Given the description of an element on the screen output the (x, y) to click on. 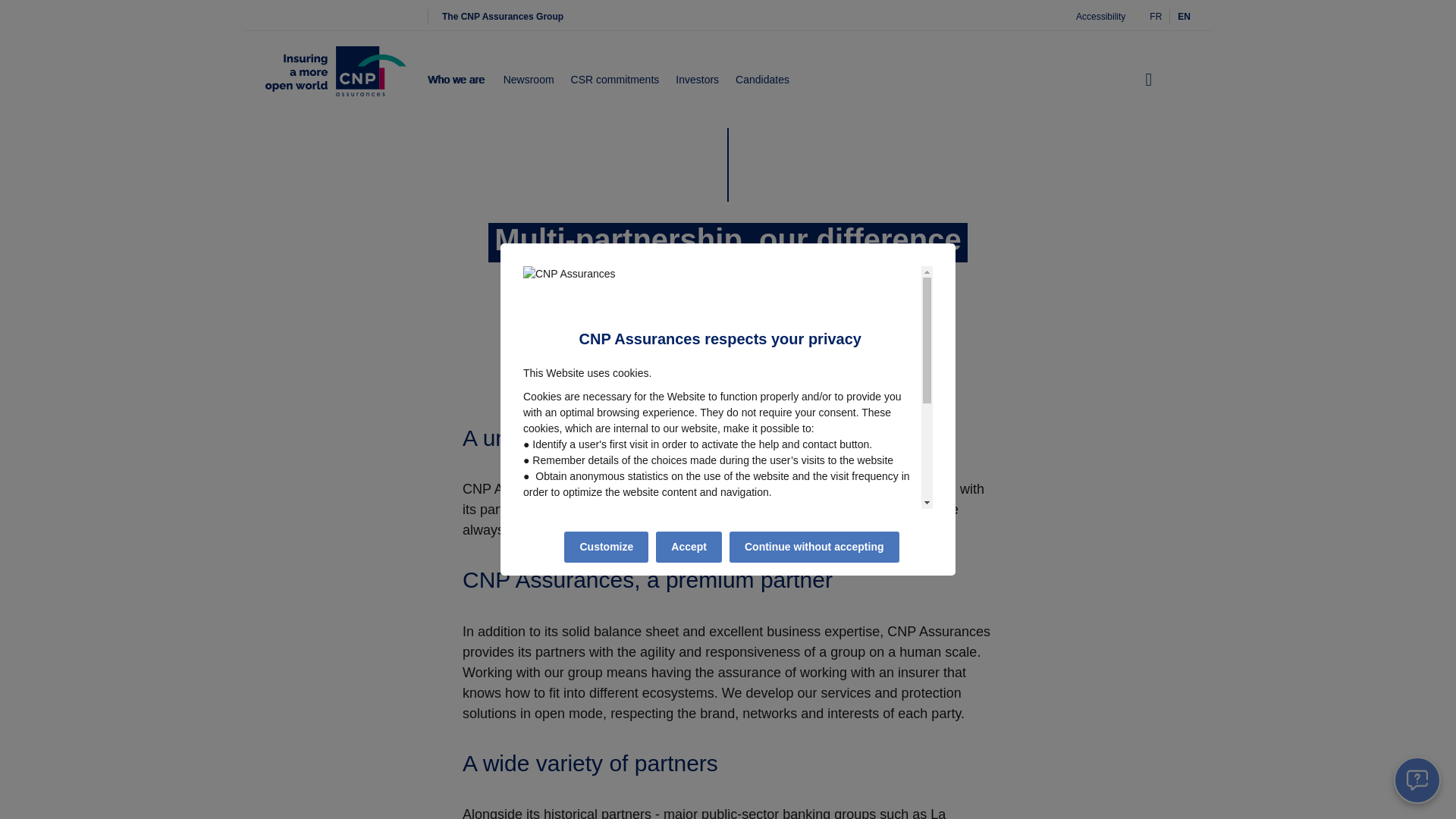
The CNP Assurances Group (502, 16)
CNP Assurances - return to the homepage of the site (335, 80)
